Given the description of an element on the screen output the (x, y) to click on. 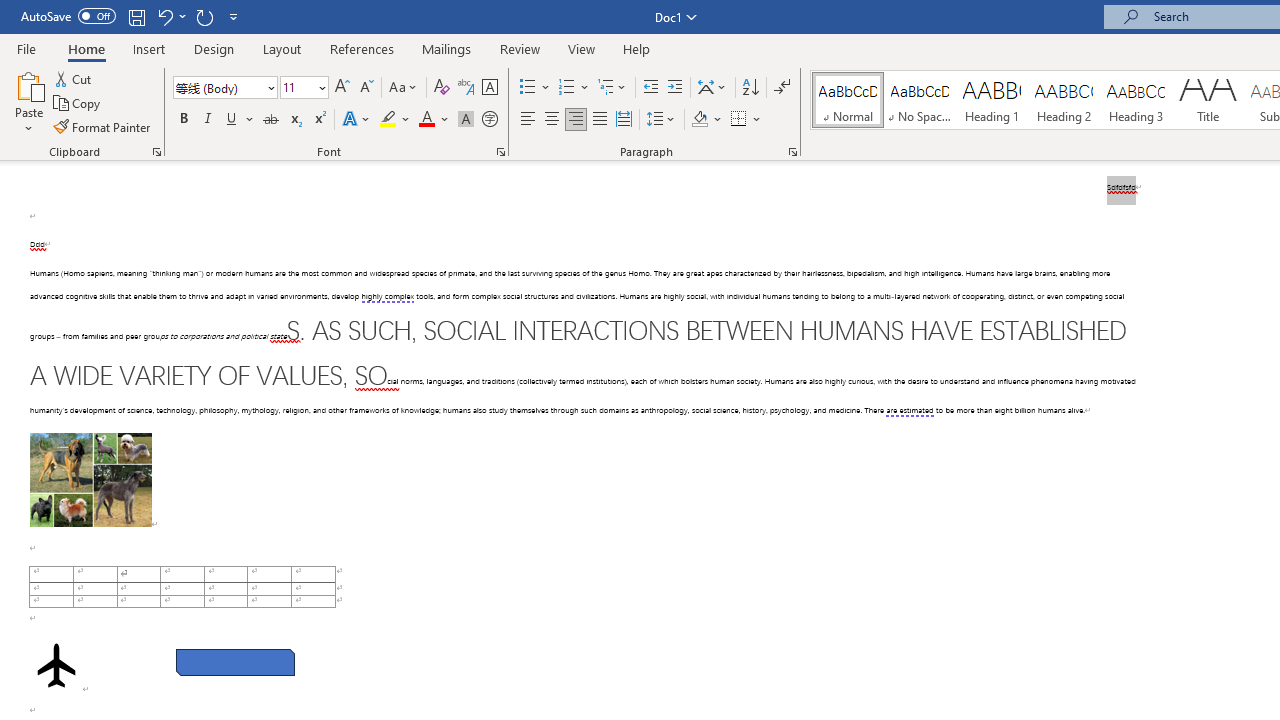
Airplane with solid fill (56, 665)
Rectangle: Diagonal Corners Snipped 2 (235, 662)
